Given the description of an element on the screen output the (x, y) to click on. 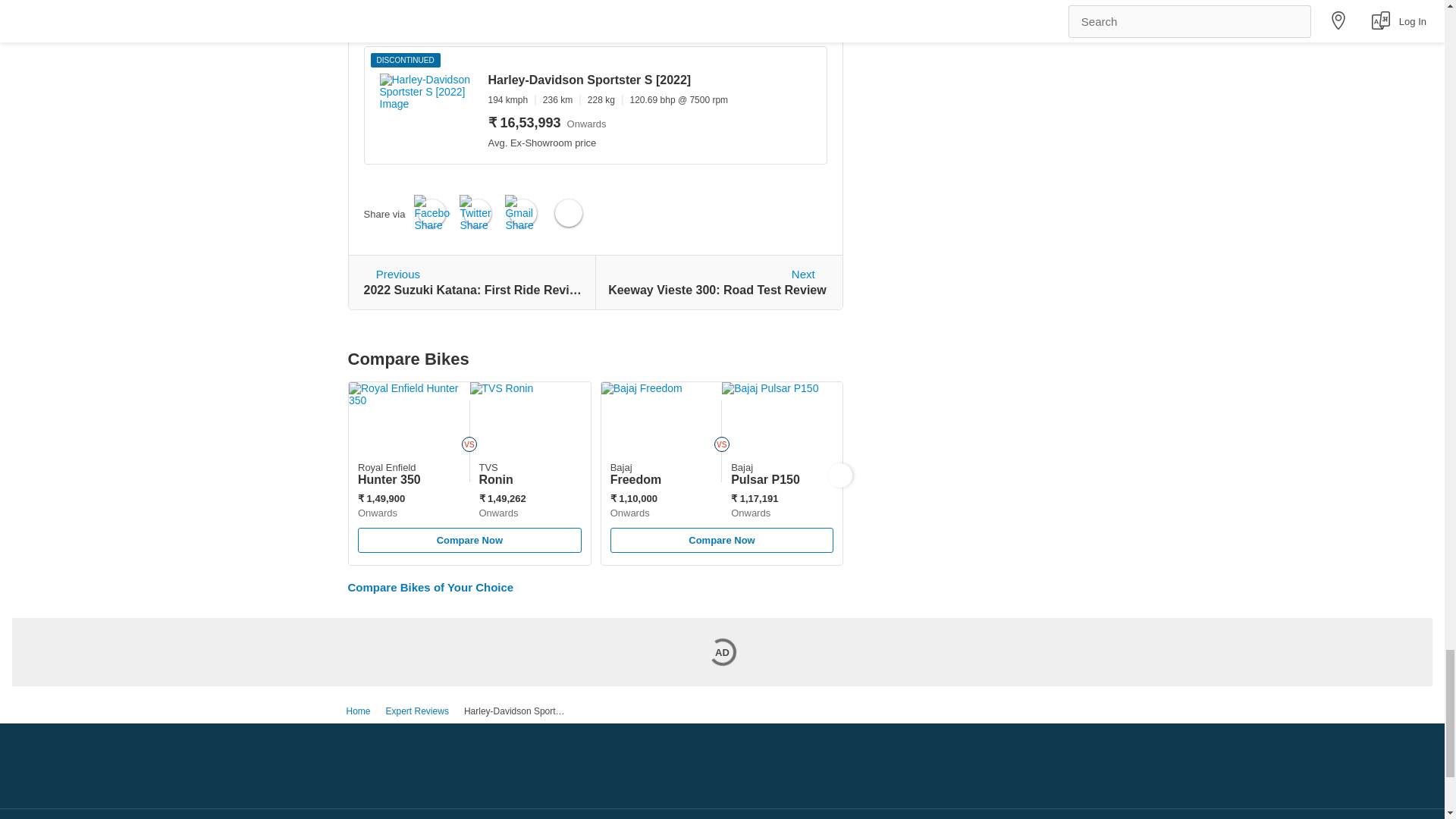
Compare Now (473, 282)
Compare Now (470, 546)
Compare Now (469, 539)
Compare Now (721, 539)
